Given the description of an element on the screen output the (x, y) to click on. 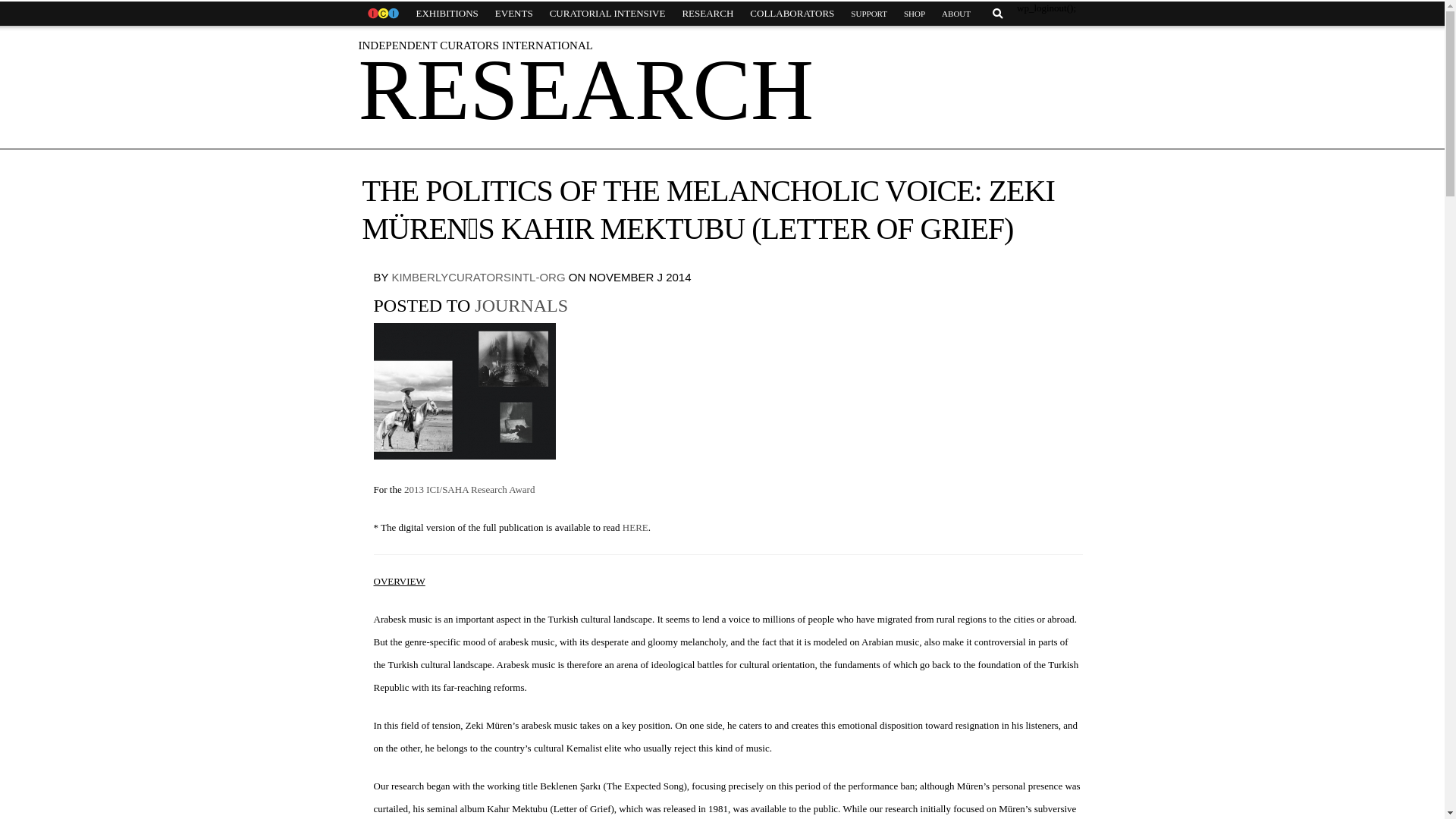
EVENTS (513, 13)
RESEARCH (706, 13)
COLLABORATORS (792, 13)
CURATORIAL INTENSIVE (607, 13)
HOME (382, 13)
EXHIBITIONS (446, 13)
